Given the description of an element on the screen output the (x, y) to click on. 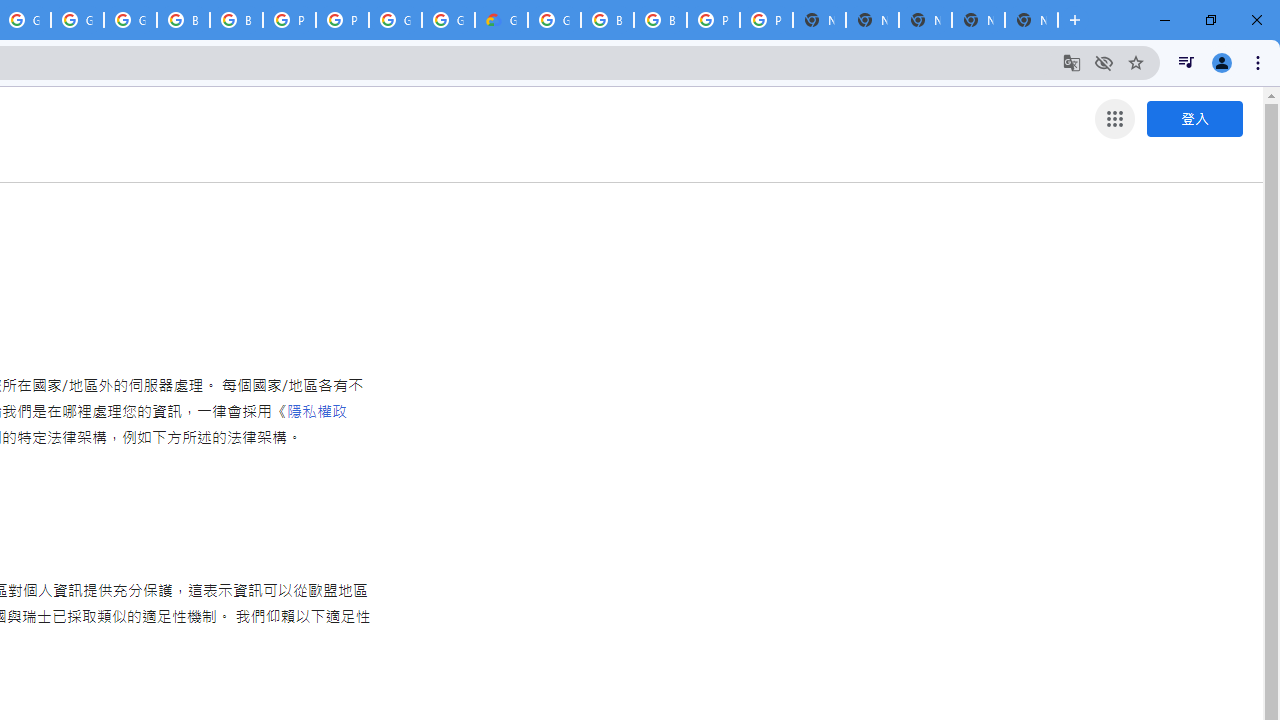
Browse Chrome as a guest - Computer - Google Chrome Help (607, 20)
Google Cloud Estimate Summary (501, 20)
Google Cloud Platform (395, 20)
Translate this page (1071, 62)
Browse Chrome as a guest - Computer - Google Chrome Help (183, 20)
